Given the description of an element on the screen output the (x, y) to click on. 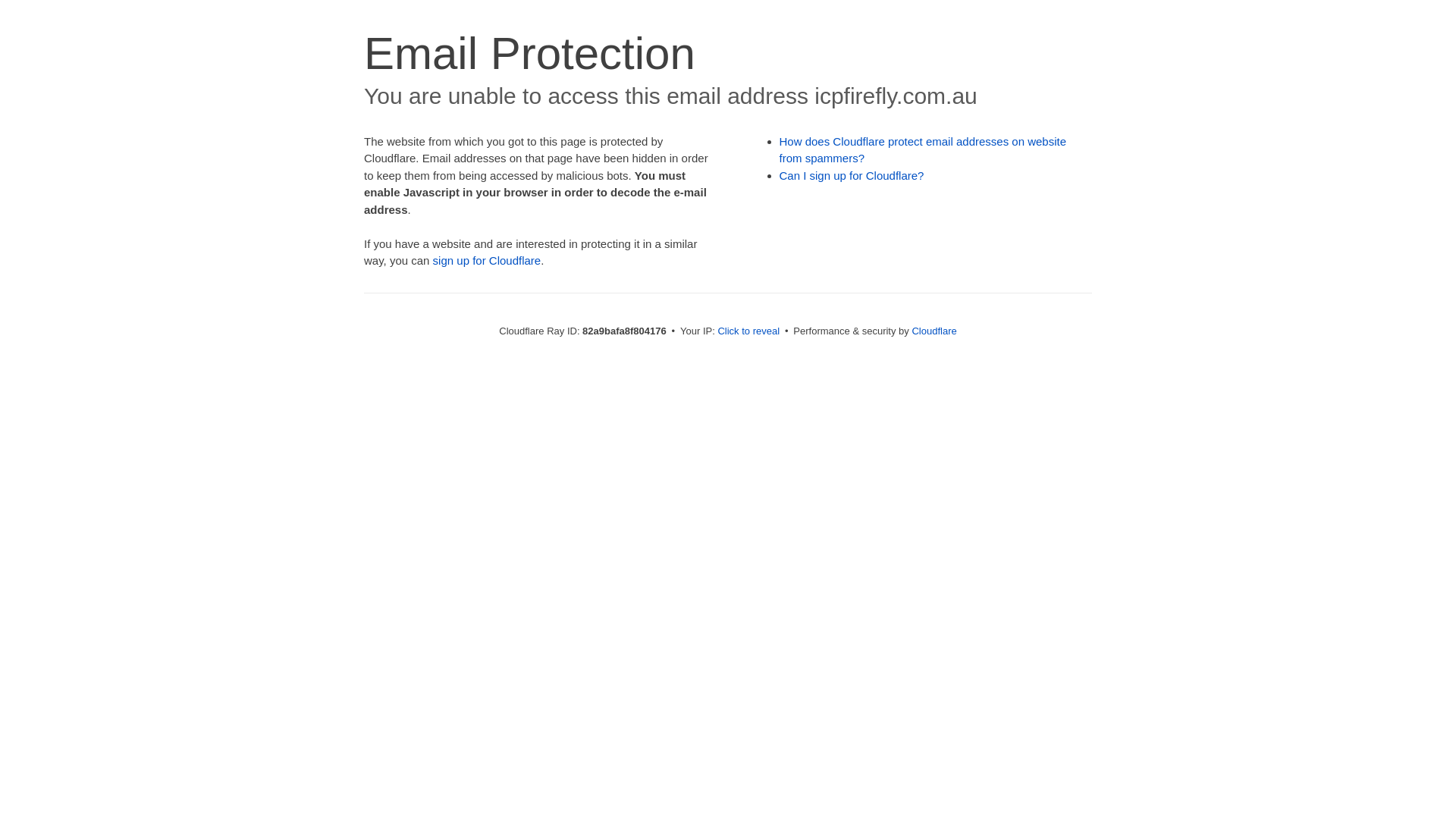
Click to reveal Element type: text (748, 330)
Cloudflare Element type: text (933, 330)
Can I sign up for Cloudflare? Element type: text (851, 175)
sign up for Cloudflare Element type: text (487, 260)
